Given the description of an element on the screen output the (x, y) to click on. 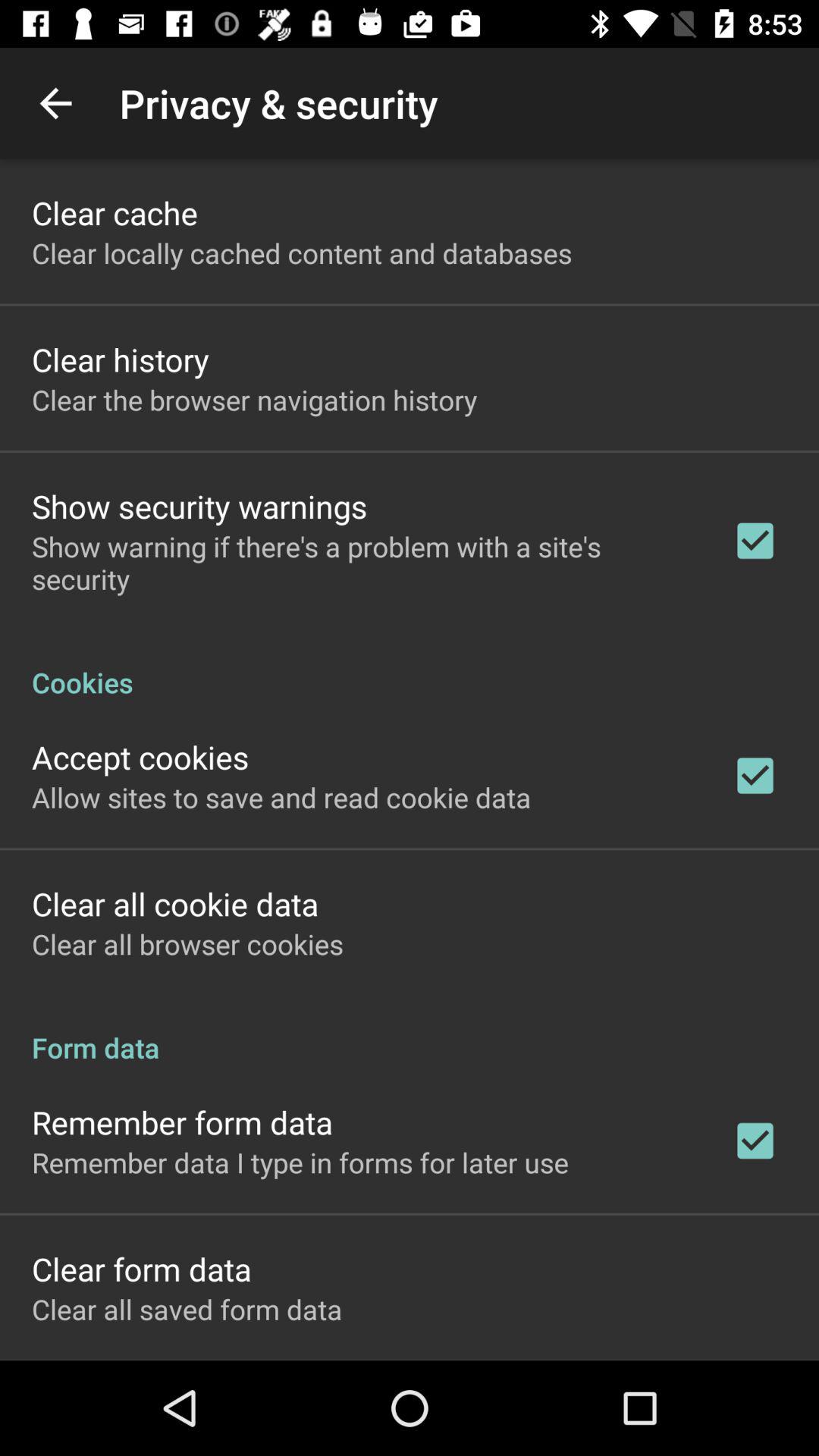
choose the app above cookies app (361, 562)
